Given the description of an element on the screen output the (x, y) to click on. 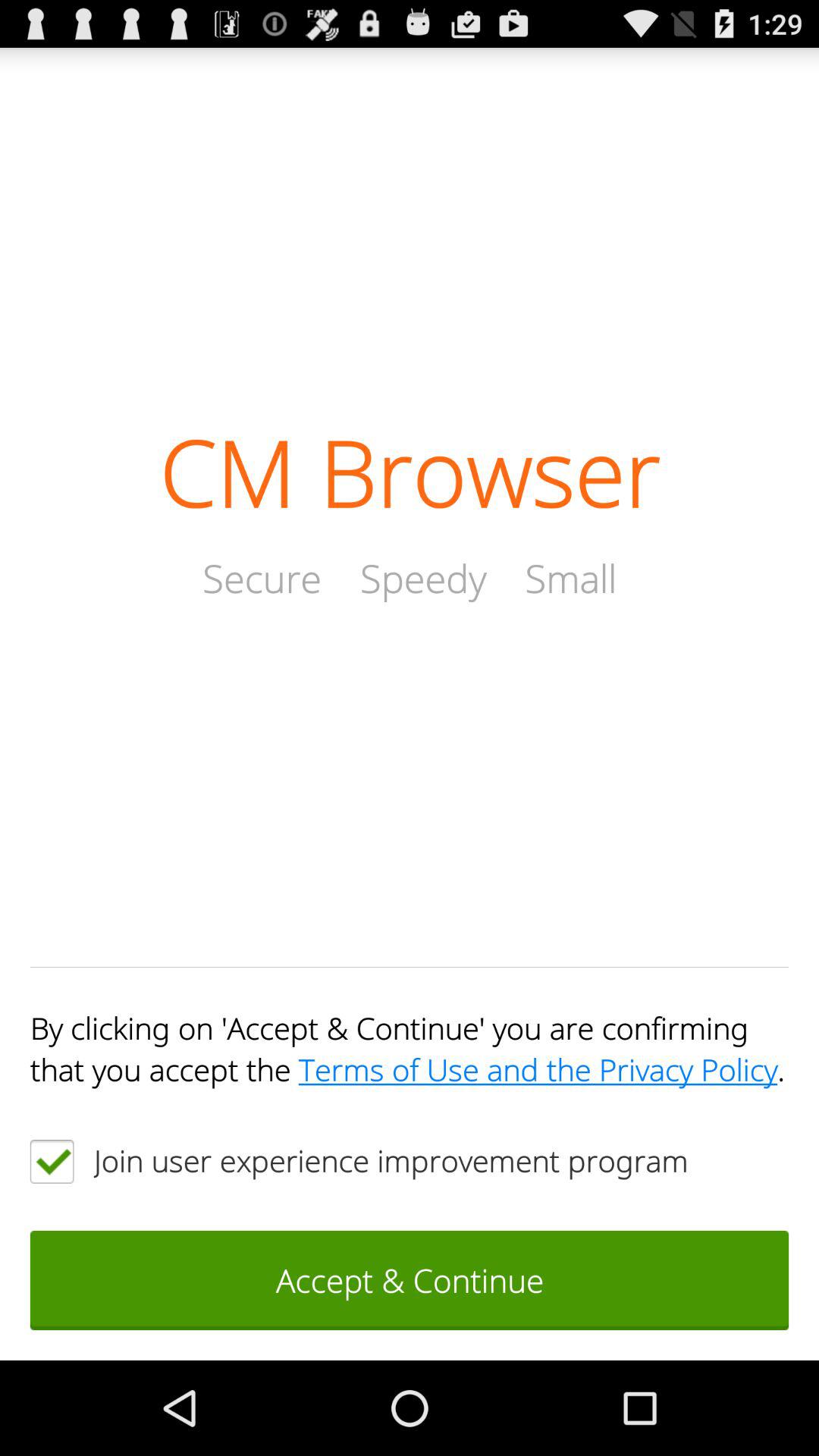
open the item above the accept & continue item (51, 1161)
